Given the description of an element on the screen output the (x, y) to click on. 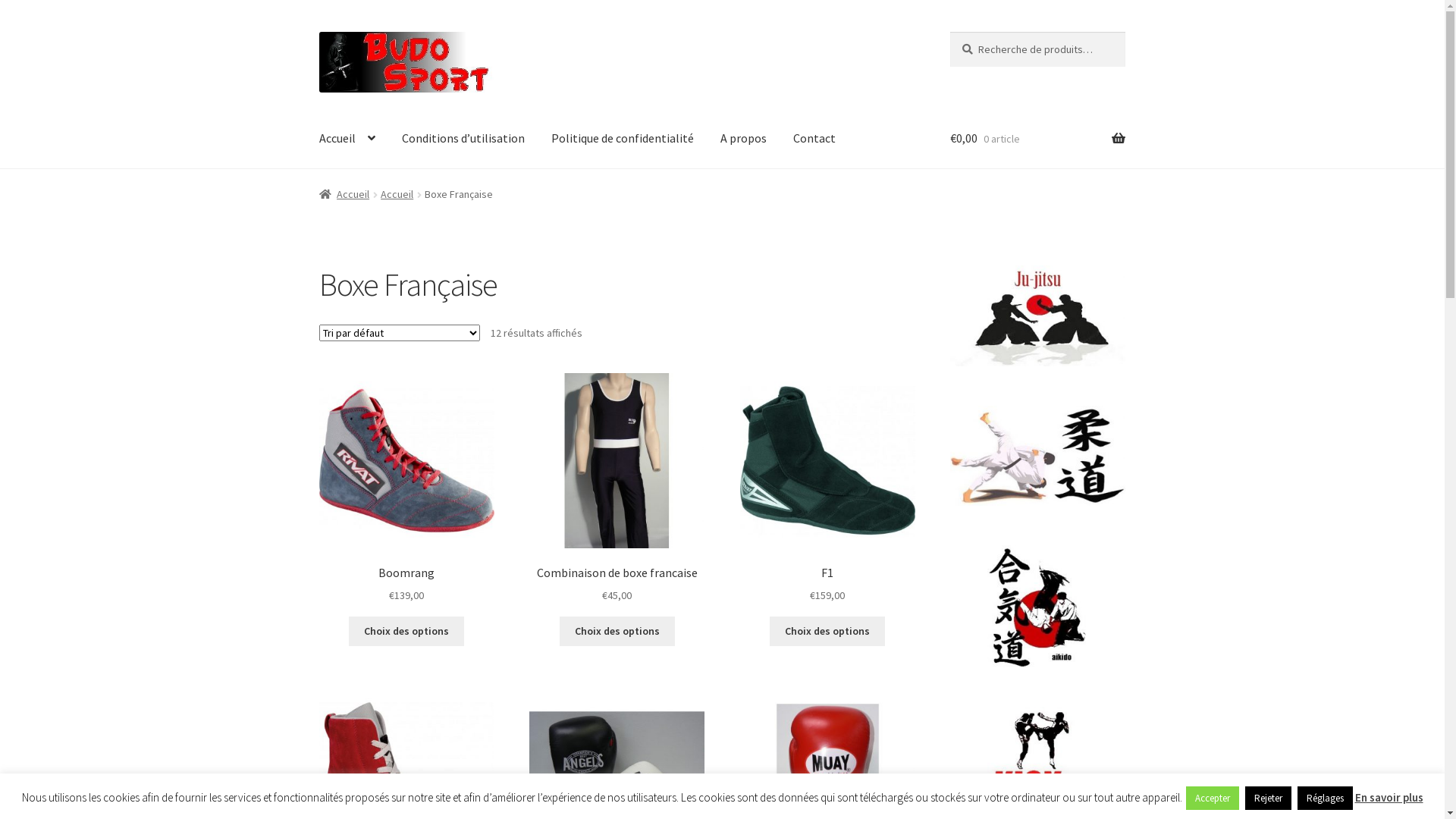
En savoir plus Element type: text (1388, 797)
Accepter Element type: text (1212, 797)
Contact Element type: text (814, 138)
Recherche Element type: text (949, 31)
A propos Element type: text (743, 138)
Accueil Element type: text (347, 138)
Accueil Element type: text (344, 193)
Accueil Element type: text (396, 193)
Choix des options Element type: text (616, 631)
Choix des options Element type: text (826, 631)
Choix des options Element type: text (406, 631)
Rejeter Element type: text (1268, 797)
